Given the description of an element on the screen output the (x, y) to click on. 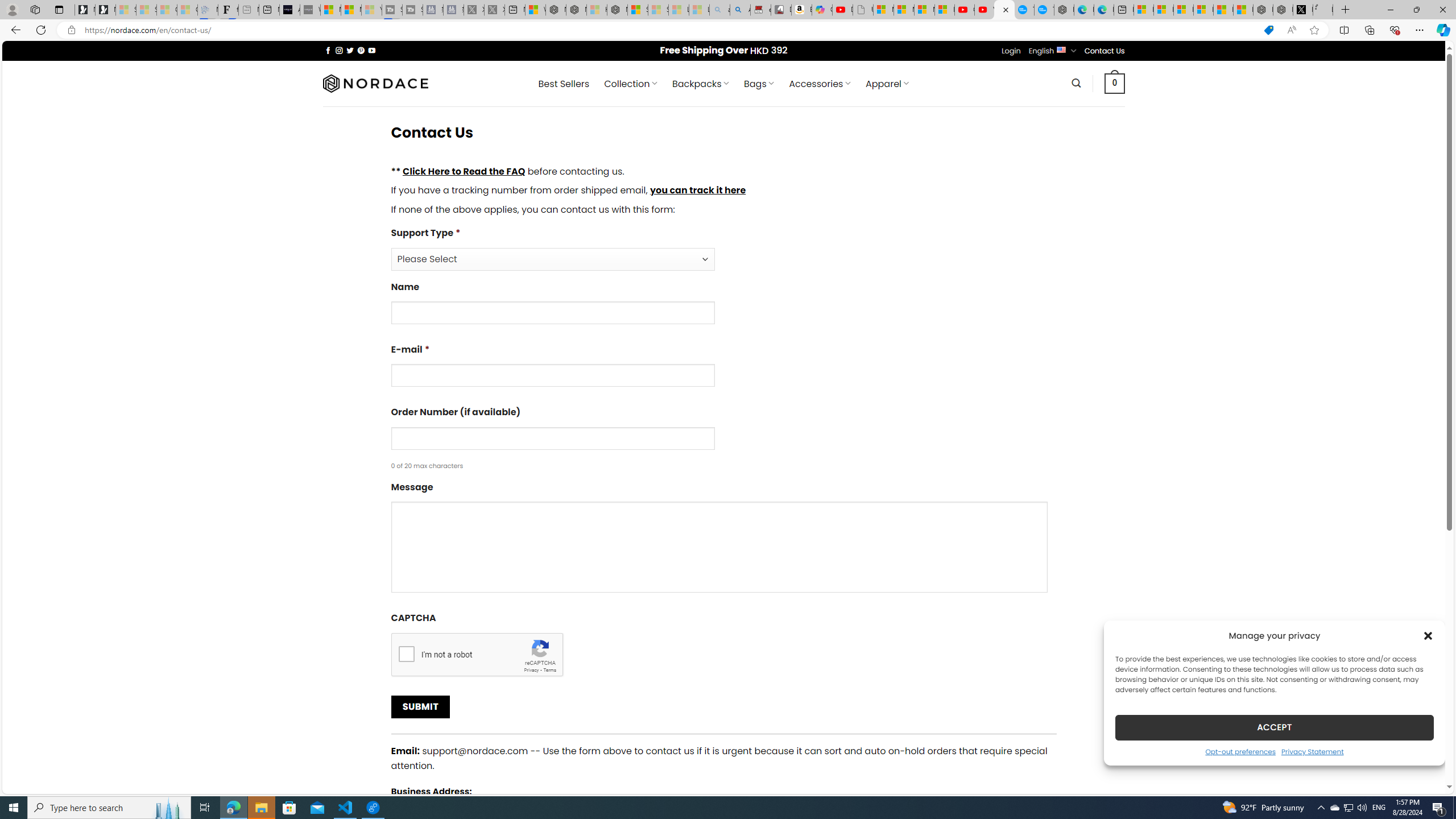
Untitled (1322, 9)
Name (723, 306)
Nordace - Nordace Siena Is Not An Ordinary Backpack (616, 9)
AI Voice Changer for PC and Mac - Voice.ai (289, 9)
